Given the description of an element on the screen output the (x, y) to click on. 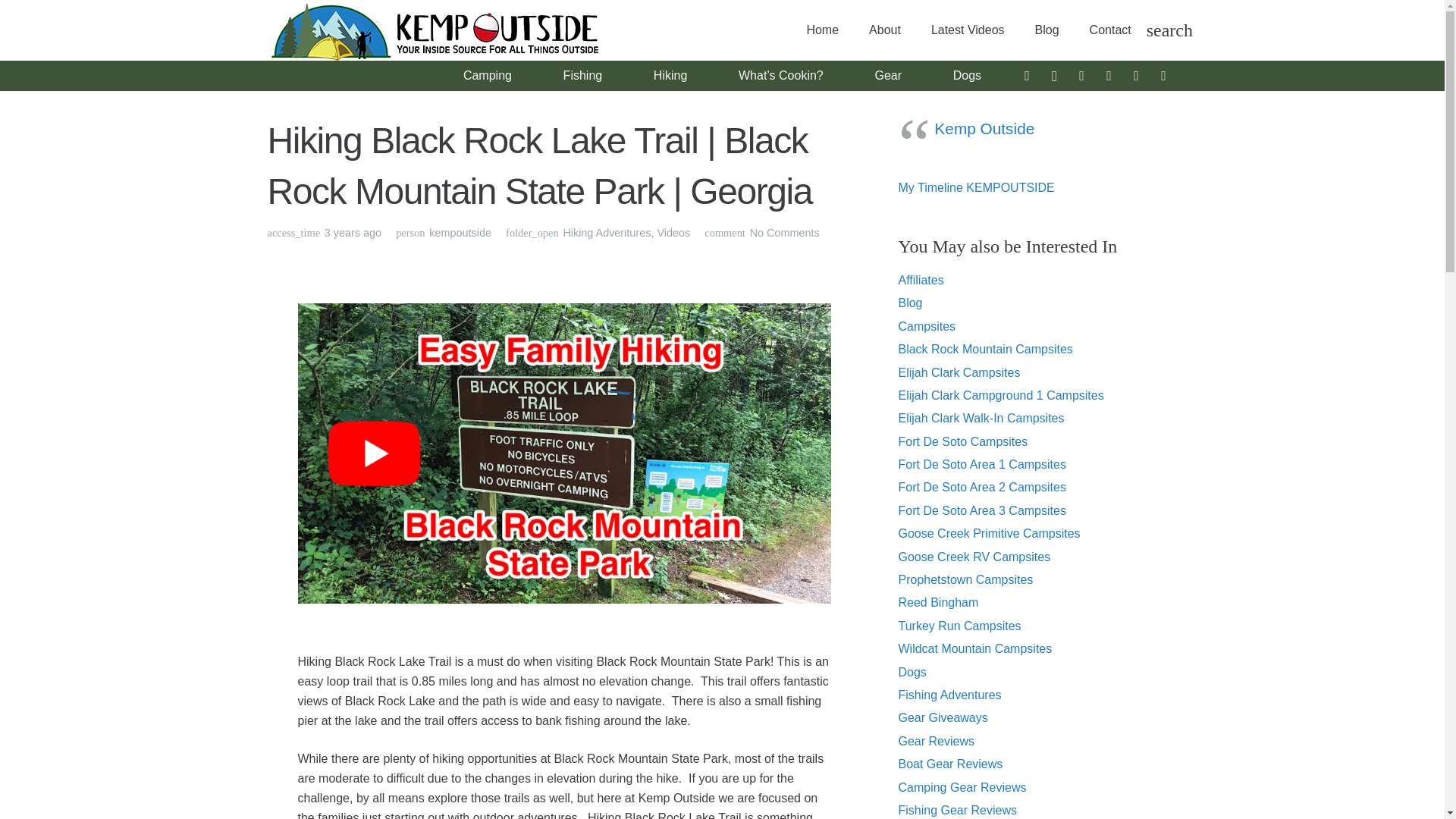
Hiking Adventures (606, 232)
Gear (888, 75)
YouTube (1163, 75)
Facebook (1027, 75)
Blog (1047, 30)
Title (1136, 75)
Dogs (966, 75)
search (1166, 30)
kempoutside (460, 232)
Instagram (1054, 75)
Home (821, 30)
Camping (487, 75)
Twitter (1080, 75)
Latest Videos (967, 30)
No Comments (784, 232)
